Given the description of an element on the screen output the (x, y) to click on. 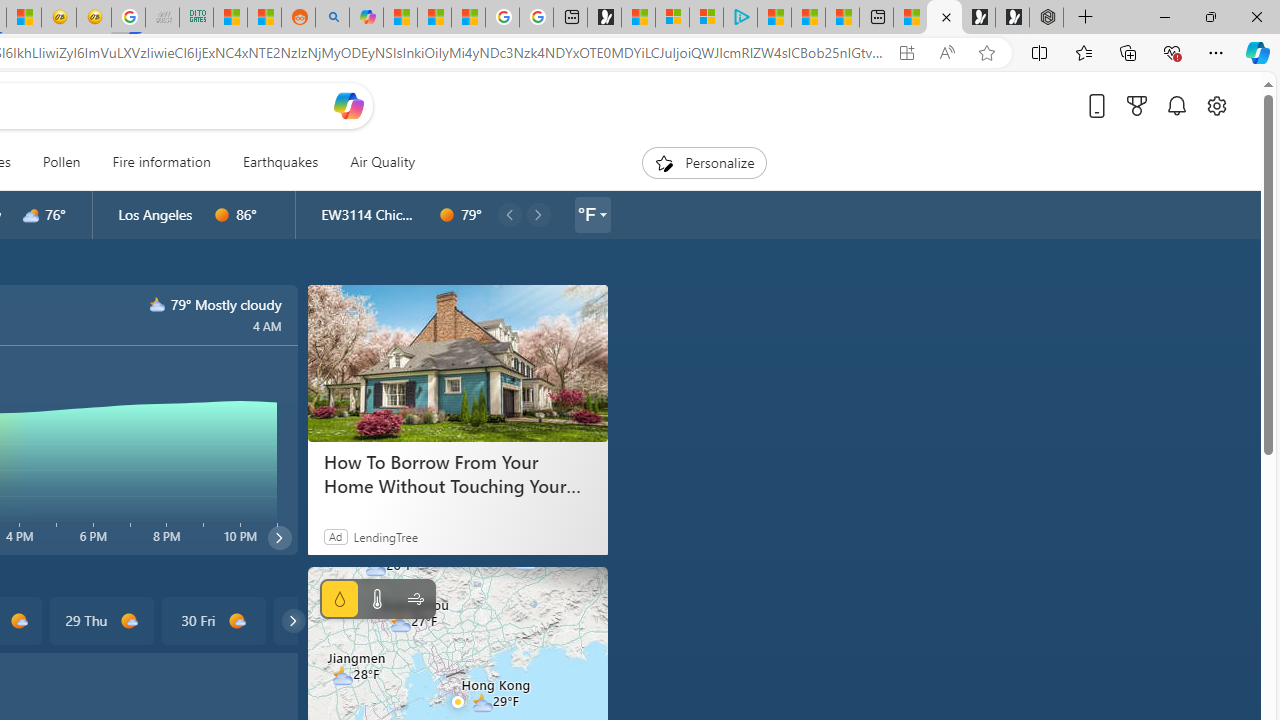
30 Fri d1000 (213, 620)
d0000 (447, 215)
Precipitation (339, 599)
Pollen (61, 162)
